Given the description of an element on the screen output the (x, y) to click on. 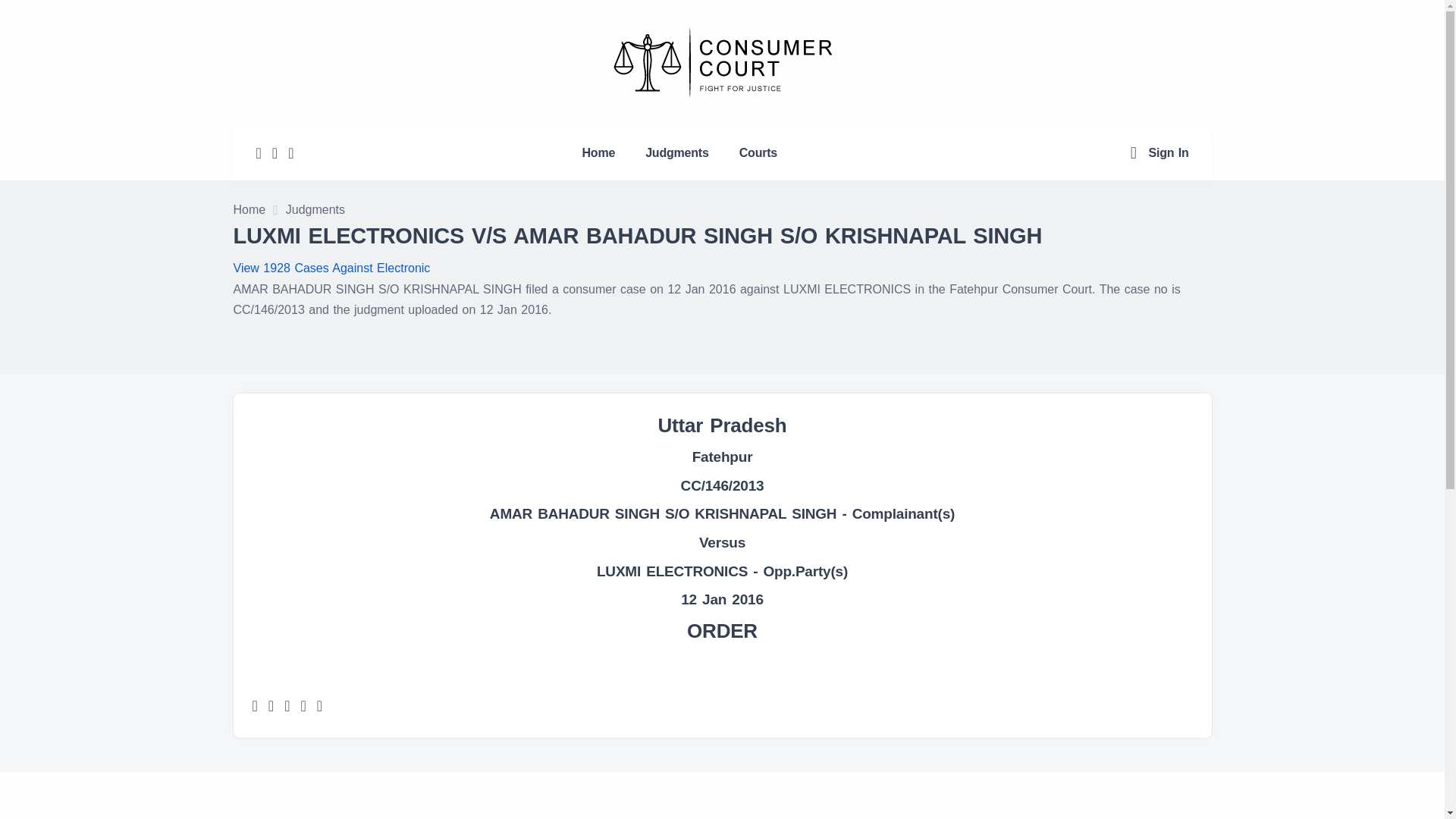
Judgments (676, 152)
Judgments (315, 210)
Sign In (1168, 152)
Home (598, 152)
View 1928 Cases Against Electronic (331, 267)
Courts (757, 152)
Home (249, 210)
